Given the description of an element on the screen output the (x, y) to click on. 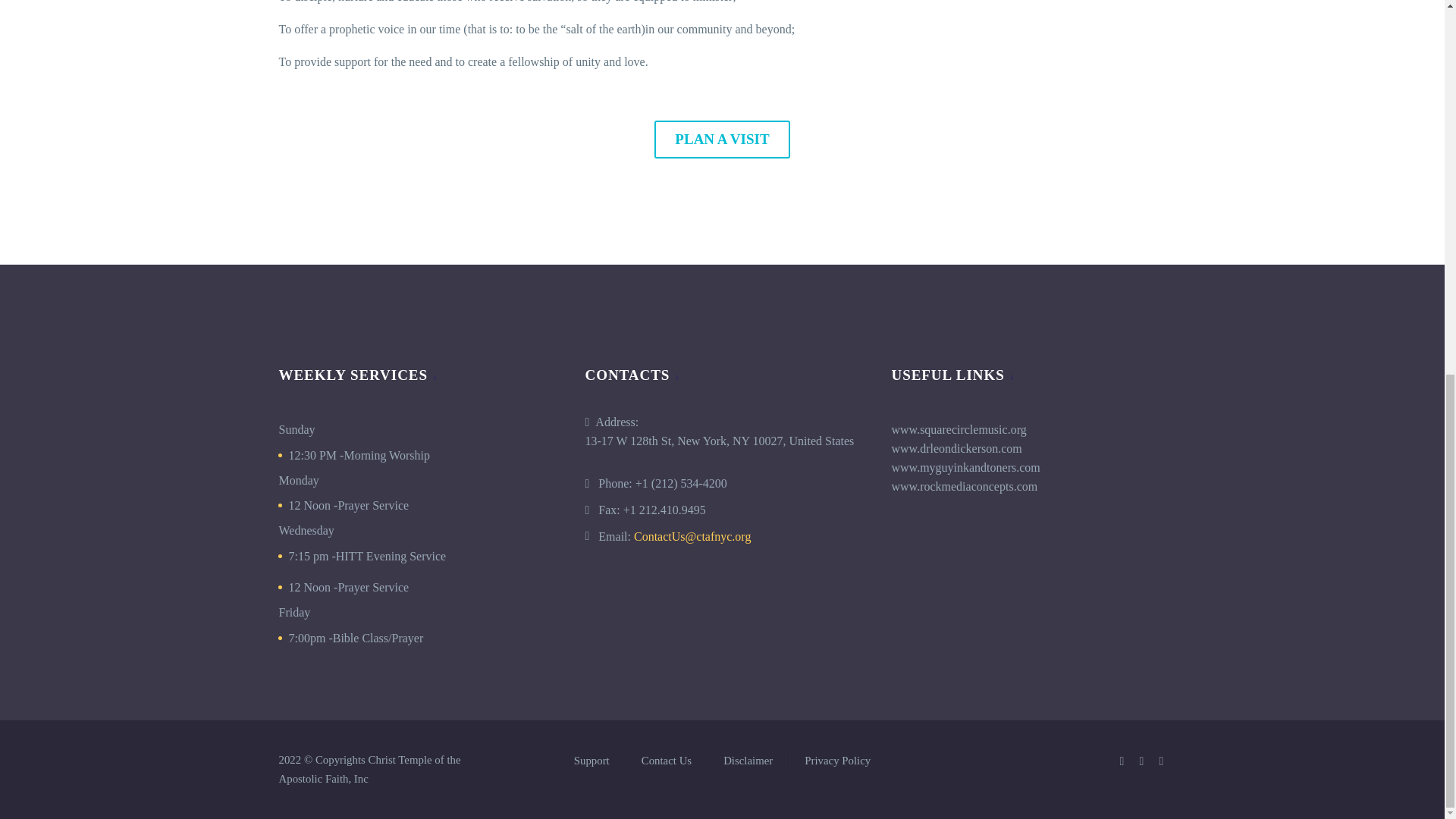
YouTube (1161, 761)
PLAN A VISIT (721, 139)
www.squarecirclemusic.org (958, 429)
Contact Us (721, 139)
Facebook (1122, 761)
Instagram (1141, 761)
